Given the description of an element on the screen output the (x, y) to click on. 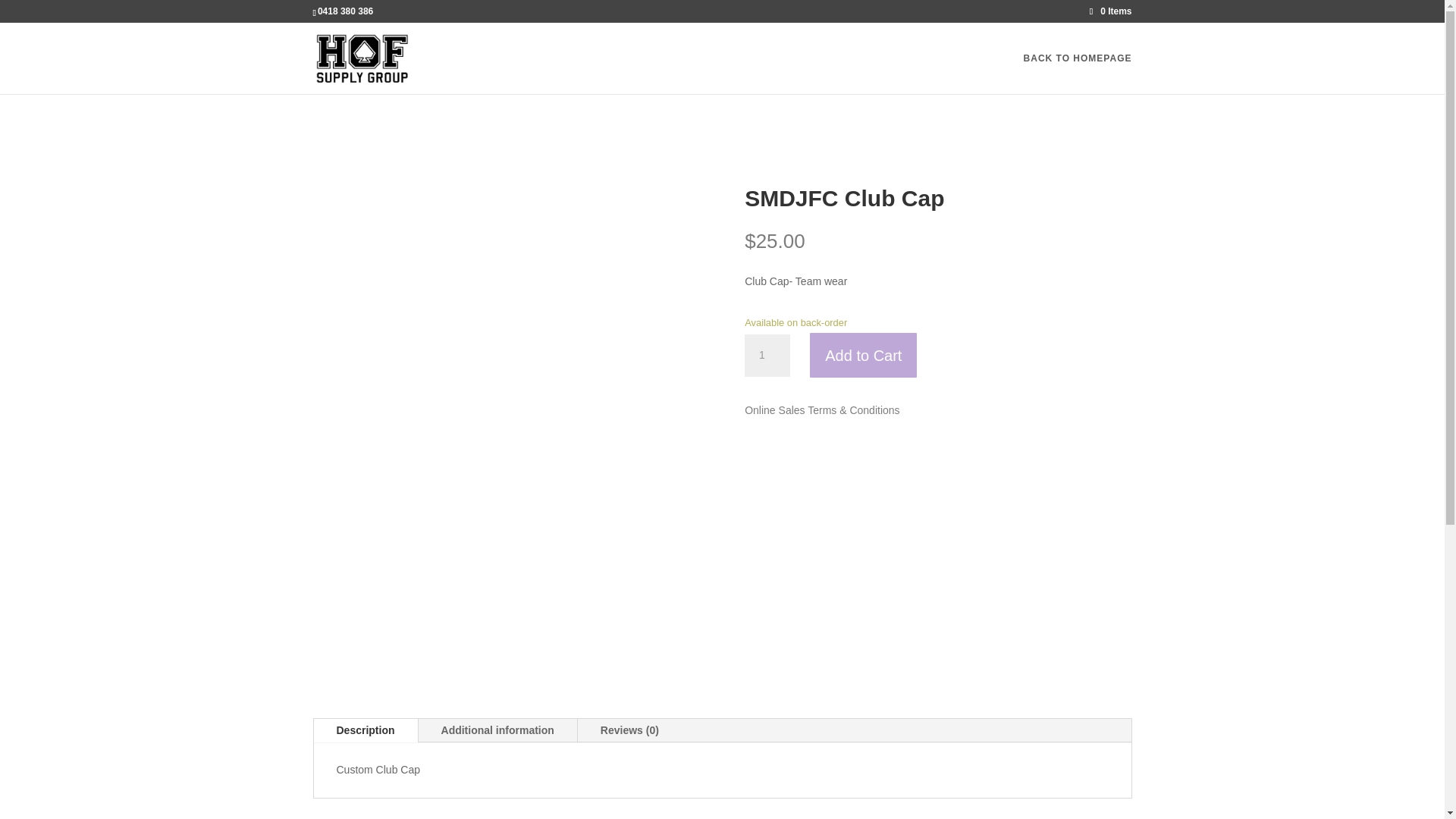
Additional information (497, 730)
Add to Cart (863, 355)
BACK TO HOMEPAGE (1077, 73)
1 (767, 355)
Description (365, 730)
0 Items (1110, 10)
